Given the description of an element on the screen output the (x, y) to click on. 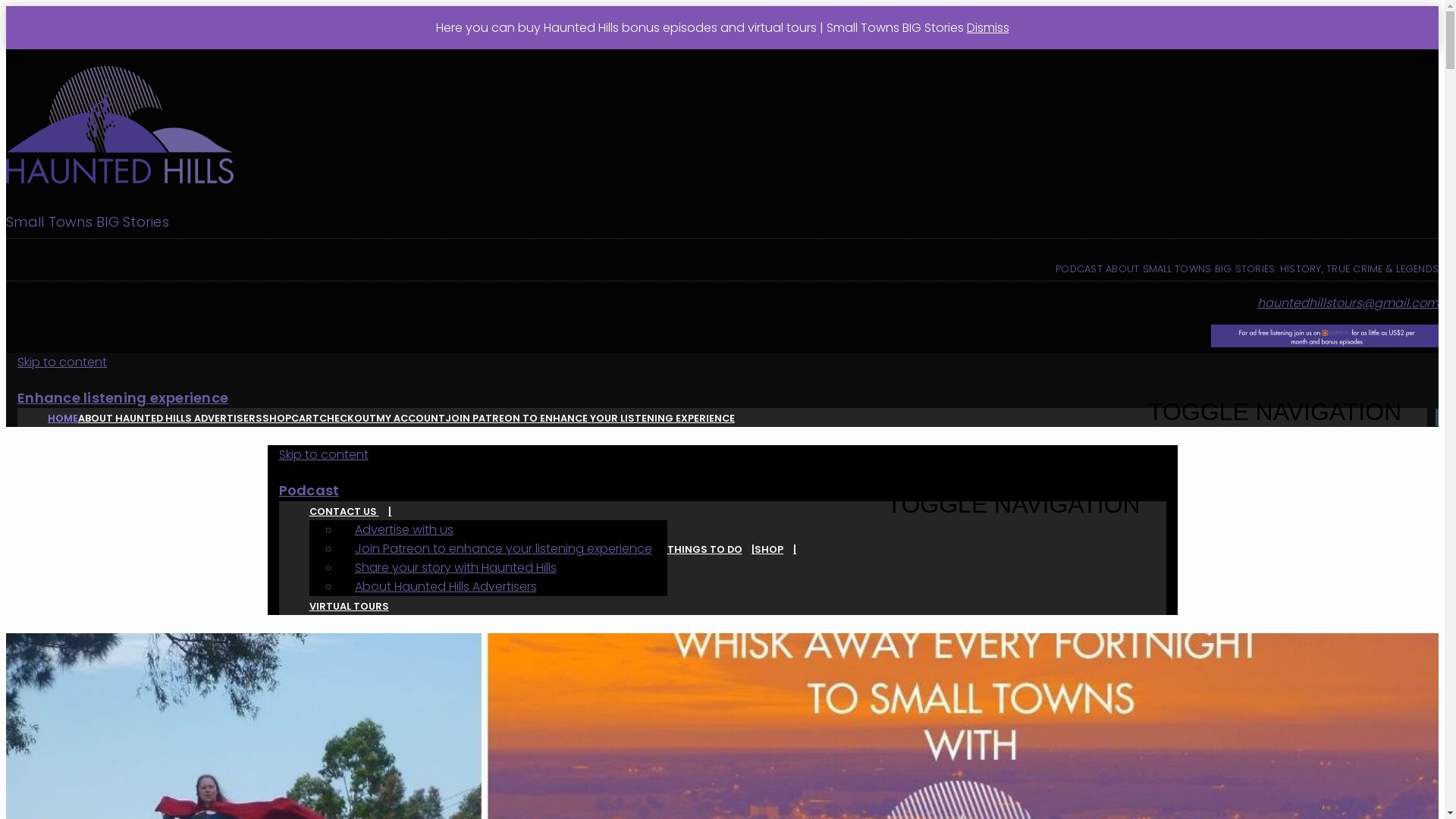
SHOP Element type: text (775, 548)
Advertise with us Element type: text (403, 529)
home Element type: hover (722, 127)
Skip to content Element type: text (323, 454)
CONTACT US Element type: text (350, 511)
VIRTUAL TOURS Element type: text (349, 605)
Skip to content Element type: text (61, 361)
ABOUT HAUNTED HILLS ADVERTISERS Element type: text (170, 417)
About Haunted Hills Advertisers Element type: text (445, 586)
hauntedhillstours@gmail.com Element type: text (1347, 302)
Share your story with Haunted Hills Element type: text (455, 567)
Join Patreon to enhance your listening experience Element type: text (503, 548)
Dismiss Element type: text (987, 27)
CART Element type: text (305, 417)
SHOP Element type: text (276, 417)
HOME Element type: text (62, 417)
THINGS TO DO Element type: text (711, 548)
Podcast Element type: text (309, 489)
TOGGLE NAVIGATION   Element type: text (1281, 411)
TOGGLE NAVIGATION   Element type: text (1019, 504)
JOIN PATREON TO ENHANCE YOUR LISTENING EXPERIENCE Element type: text (589, 417)
Enhance listening experience Element type: text (122, 397)
MY ACCOUNT Element type: text (410, 417)
CHECKOUT Element type: text (347, 417)
